Given the description of an element on the screen output the (x, y) to click on. 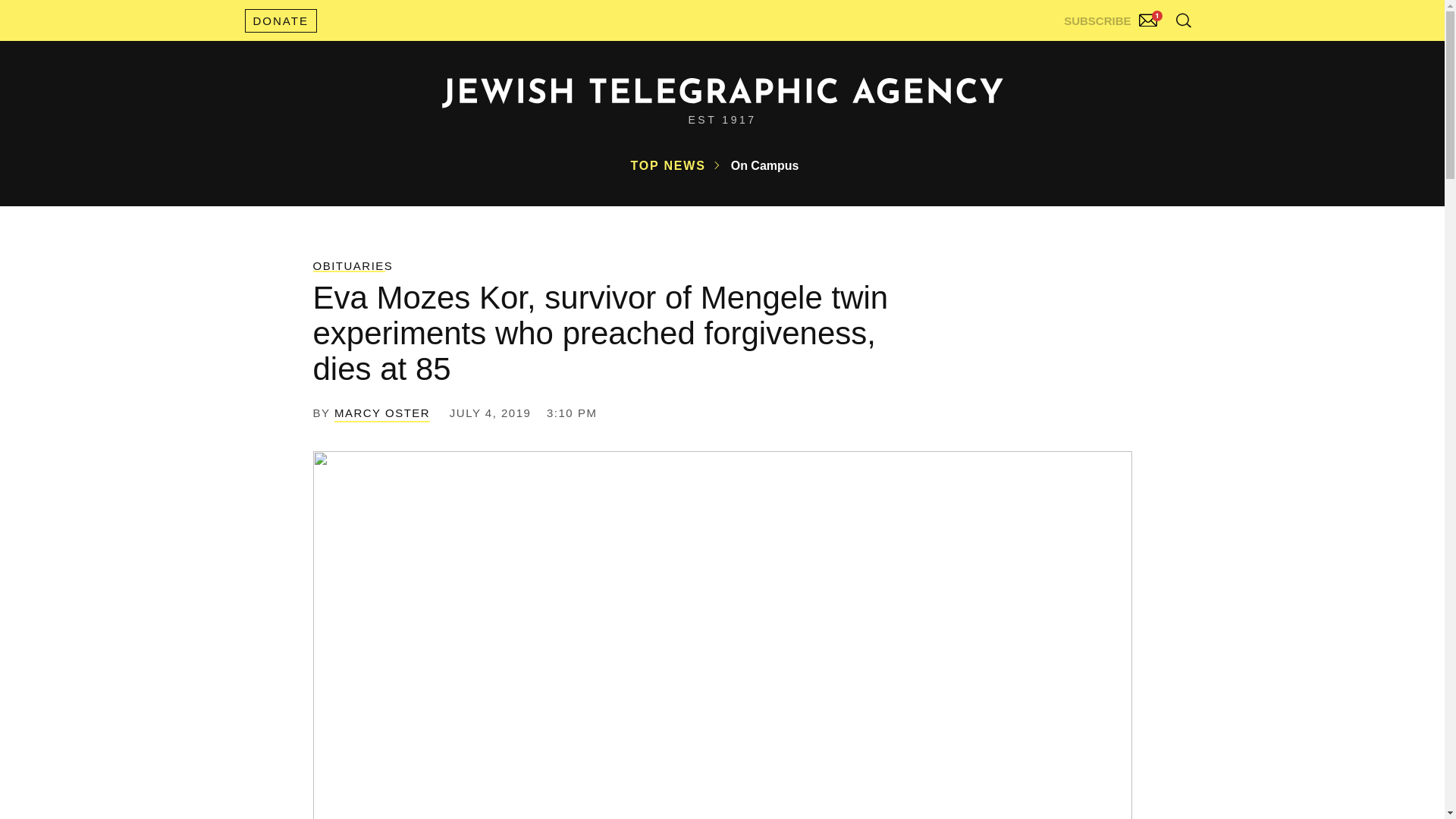
Search (1144, 53)
DONATE (279, 20)
SUBSCRIBE (1112, 17)
SEARCH TOGGLESEARCH TOGGLE (1182, 20)
